Given the description of an element on the screen output the (x, y) to click on. 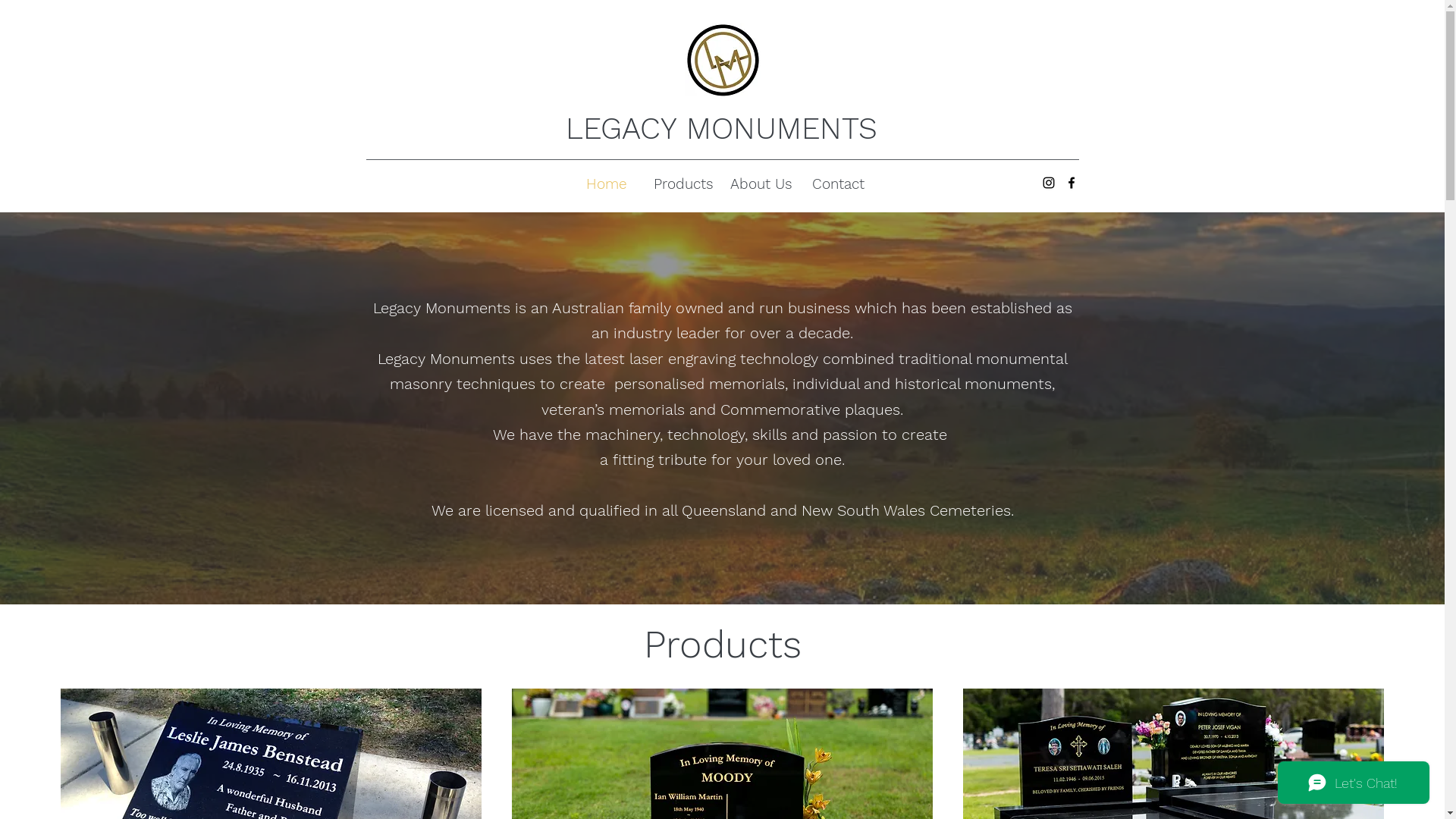
About Us Element type: text (760, 183)
Contact Element type: text (837, 183)
Home Element type: text (605, 183)
